Given the description of an element on the screen output the (x, y) to click on. 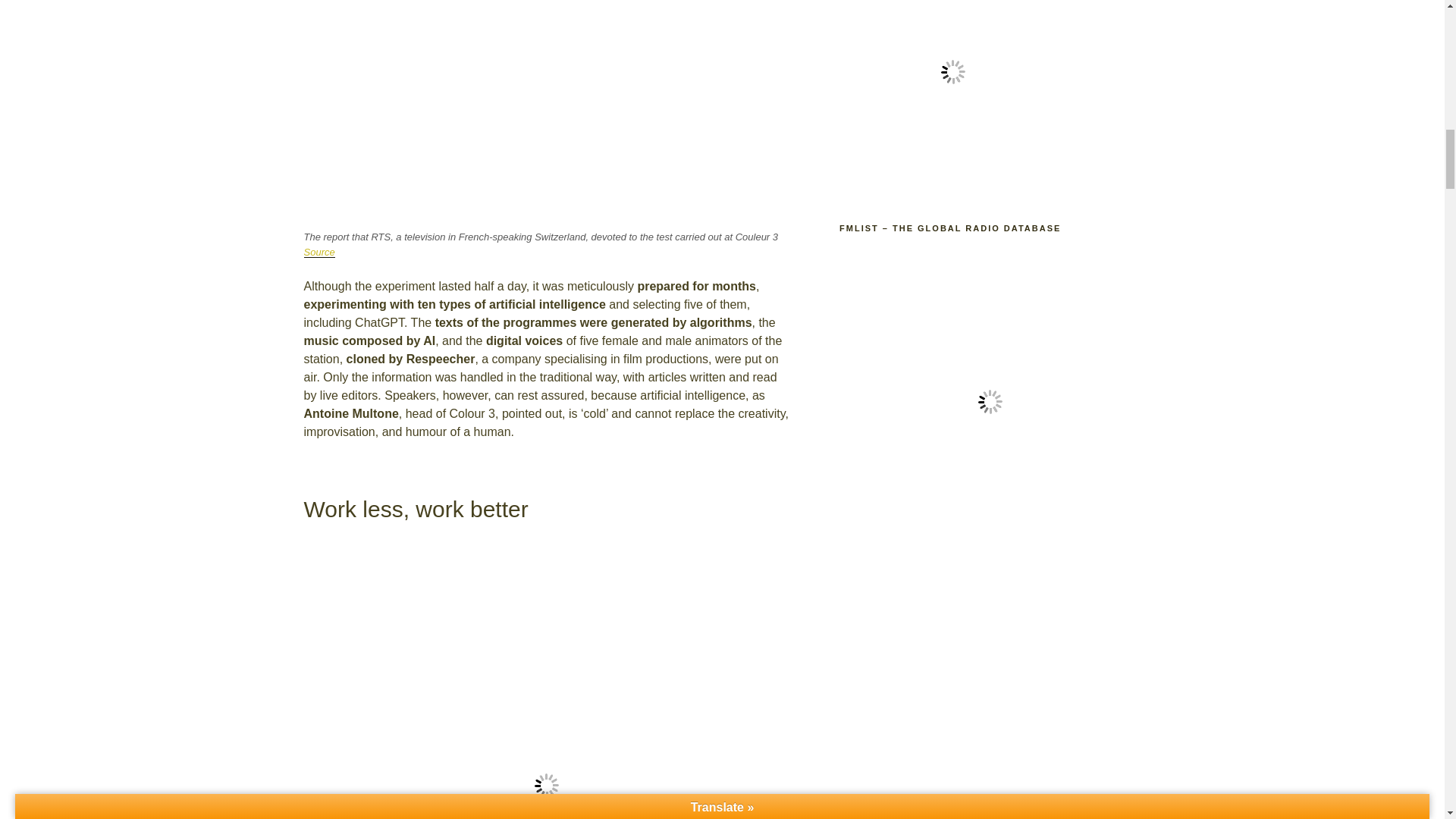
Source (318, 251)
